Given the description of an element on the screen output the (x, y) to click on. 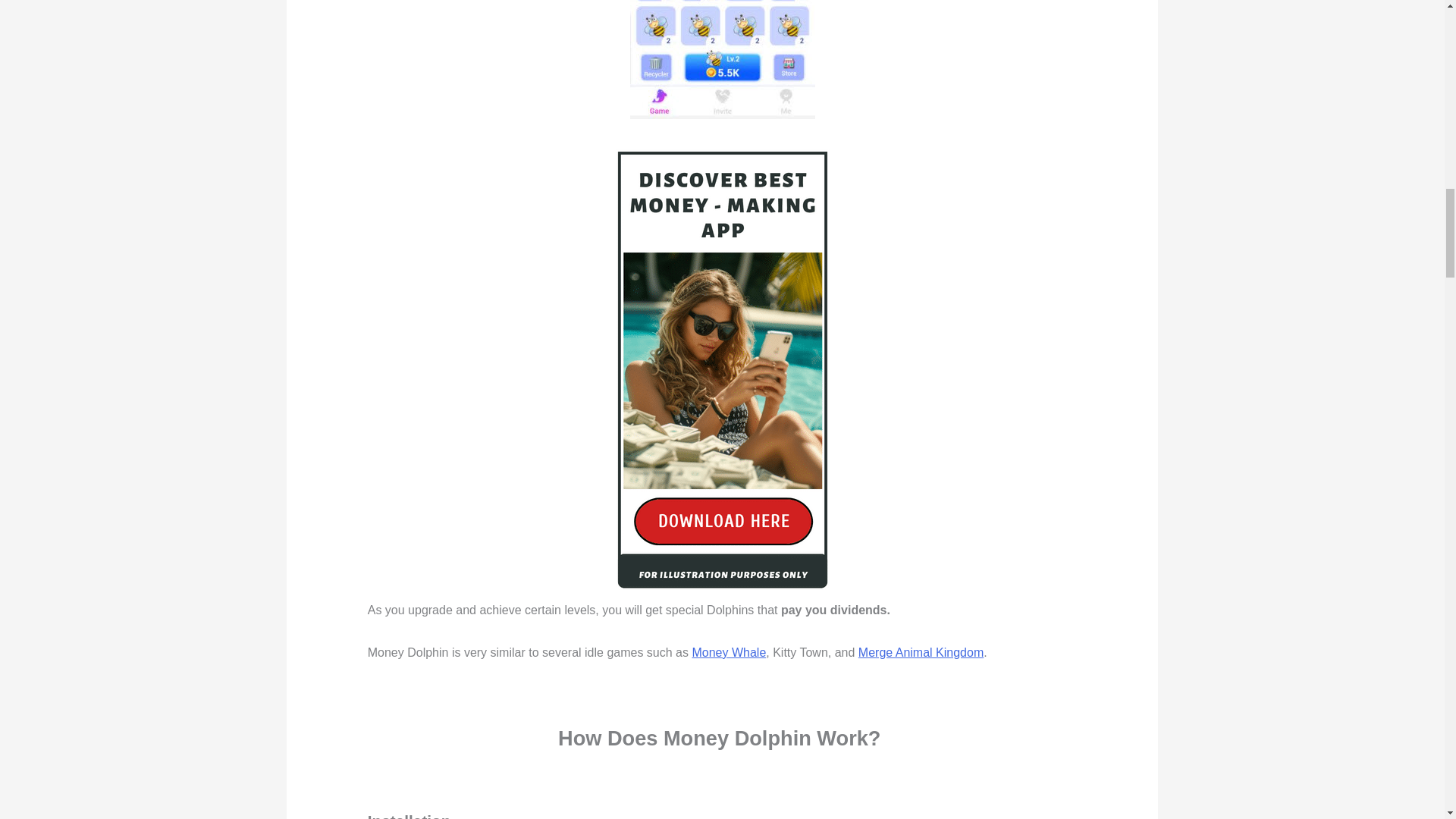
Merge Animal Kingdom (921, 652)
Money Whale (728, 652)
